Given the description of an element on the screen output the (x, y) to click on. 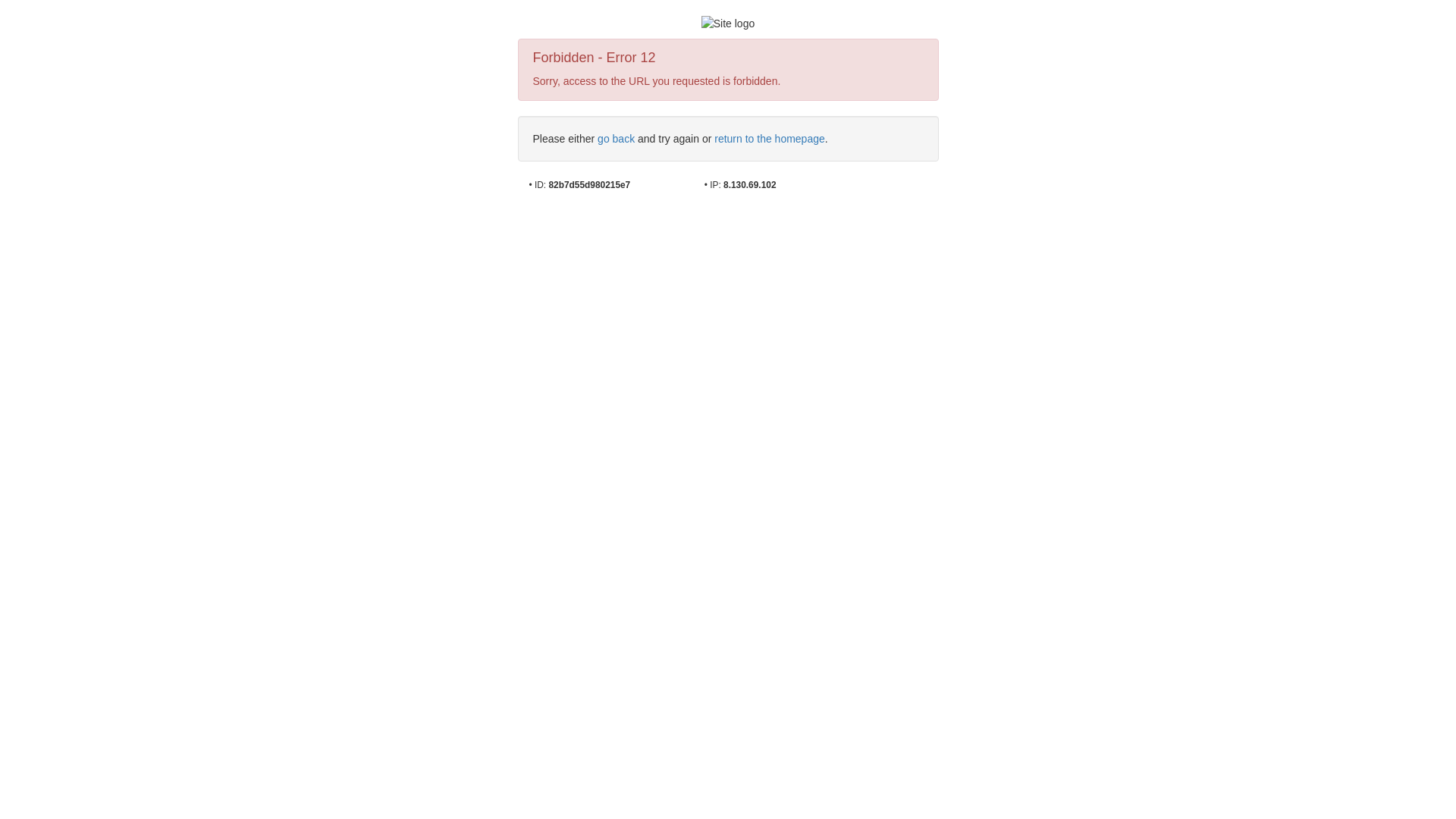
go back Element type: text (615, 138)
return to the homepage Element type: text (769, 138)
